Given the description of an element on the screen output the (x, y) to click on. 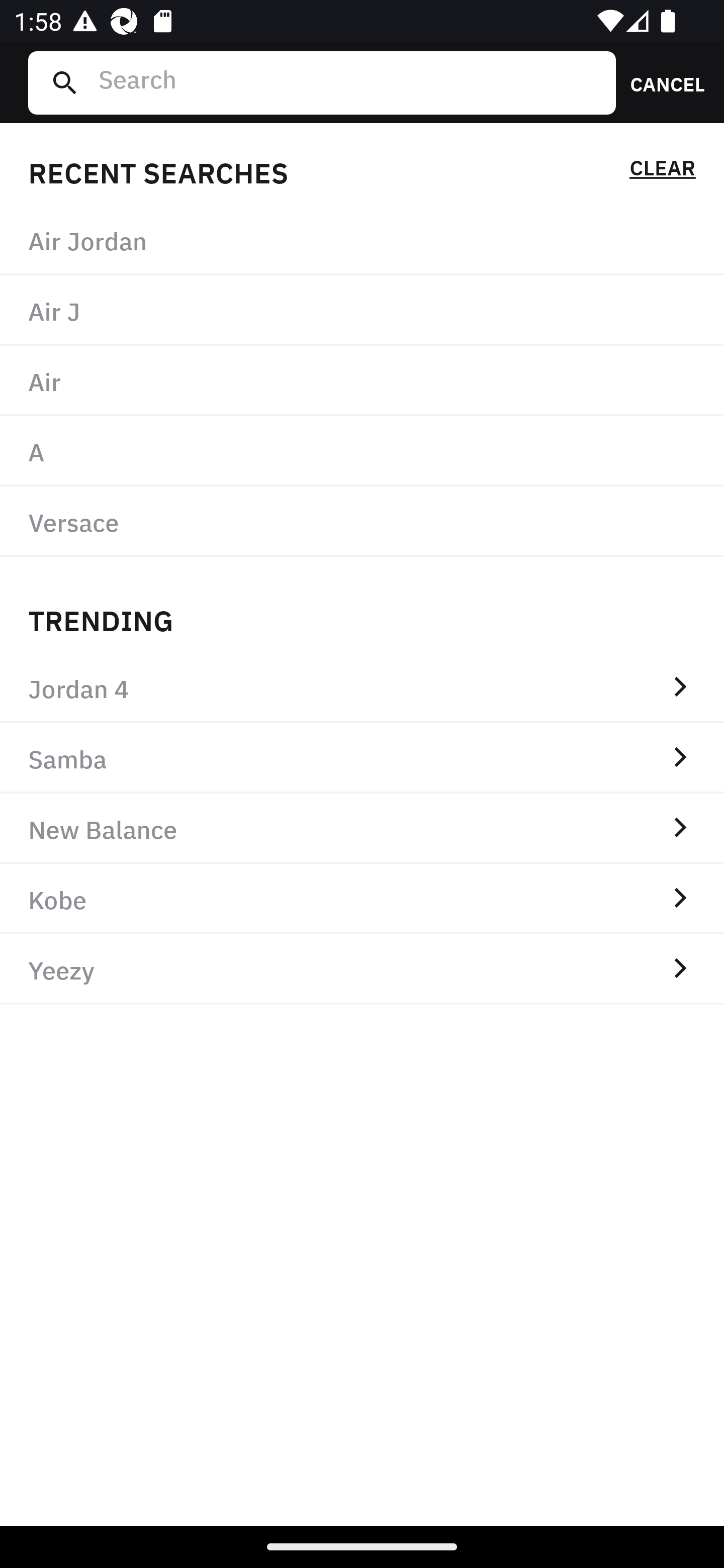
CANCEL (660, 82)
Search (349, 82)
CLEAR (662, 170)
Air Jordan (362, 240)
Air J (362, 310)
Air  (362, 380)
A (362, 450)
Versace (362, 521)
Jordan 4  (362, 687)
Samba  (362, 757)
New Balance  (362, 828)
Kobe  (362, 898)
Yeezy  (362, 969)
